Given the description of an element on the screen output the (x, y) to click on. 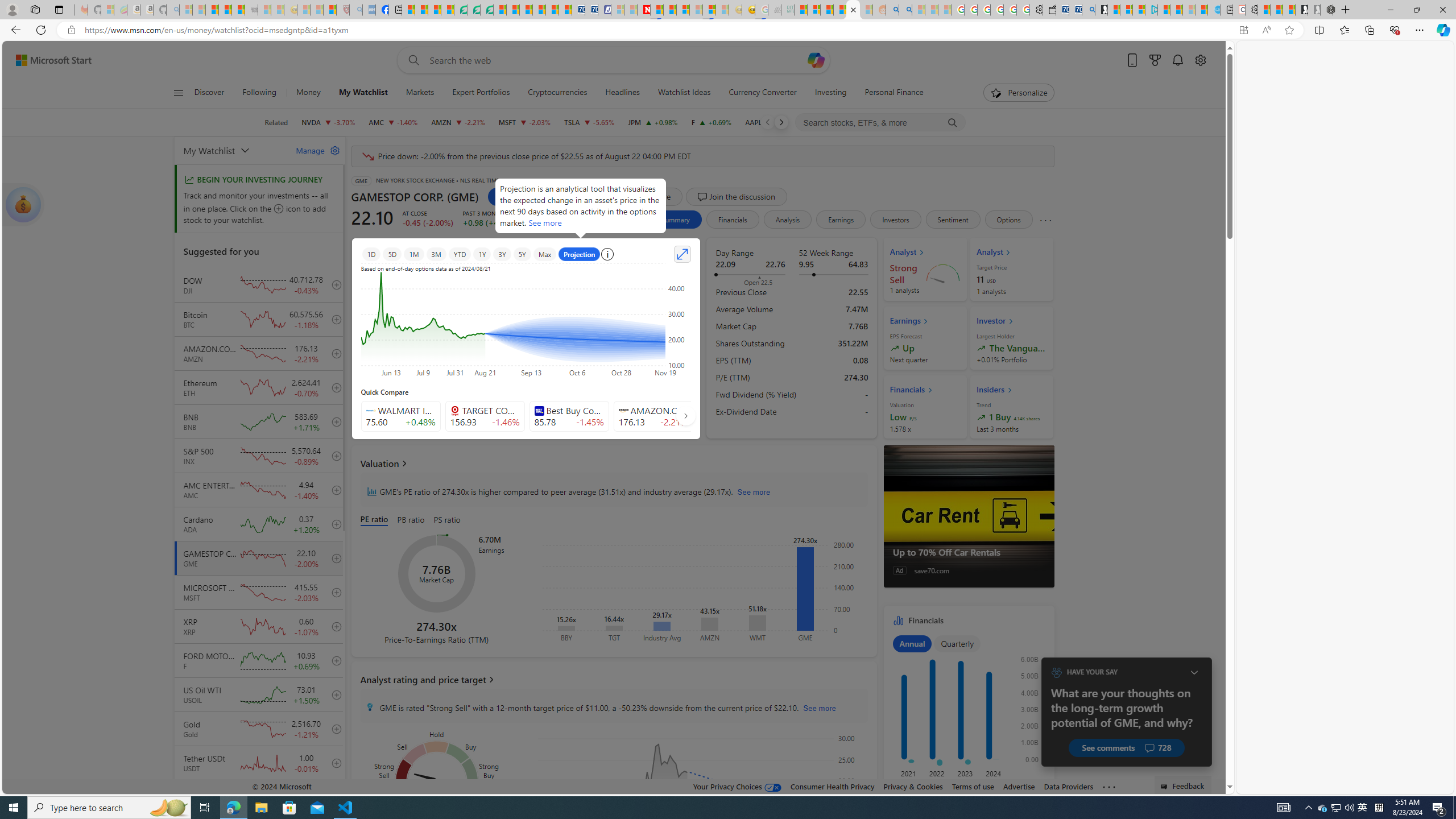
PS ratio (447, 520)
Currency Converter (762, 92)
Your Privacy Choices (737, 786)
Data Providers (1068, 786)
Terms of use (973, 785)
Microsoft-Report a Concern to Bing - Sleeping (107, 9)
Open Copilot (816, 59)
Microsoft Start Gaming (1101, 9)
Following (258, 92)
